Given the description of an element on the screen output the (x, y) to click on. 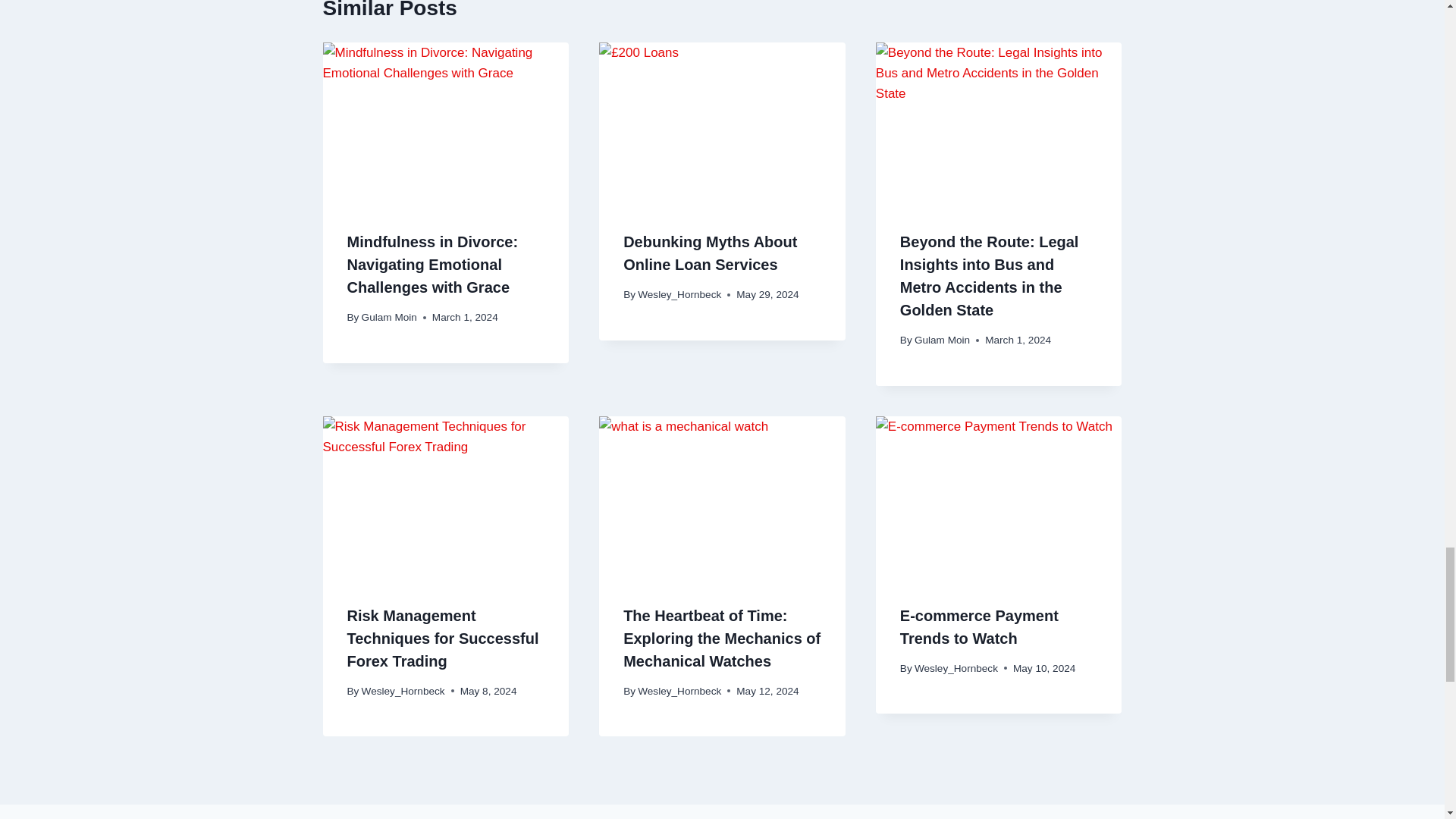
Risk Management Techniques for Successful Forex Trading (442, 638)
Gulam Moin (941, 339)
Debunking Myths About Online Loan Services (709, 252)
Gulam Moin (388, 317)
